Given the description of an element on the screen output the (x, y) to click on. 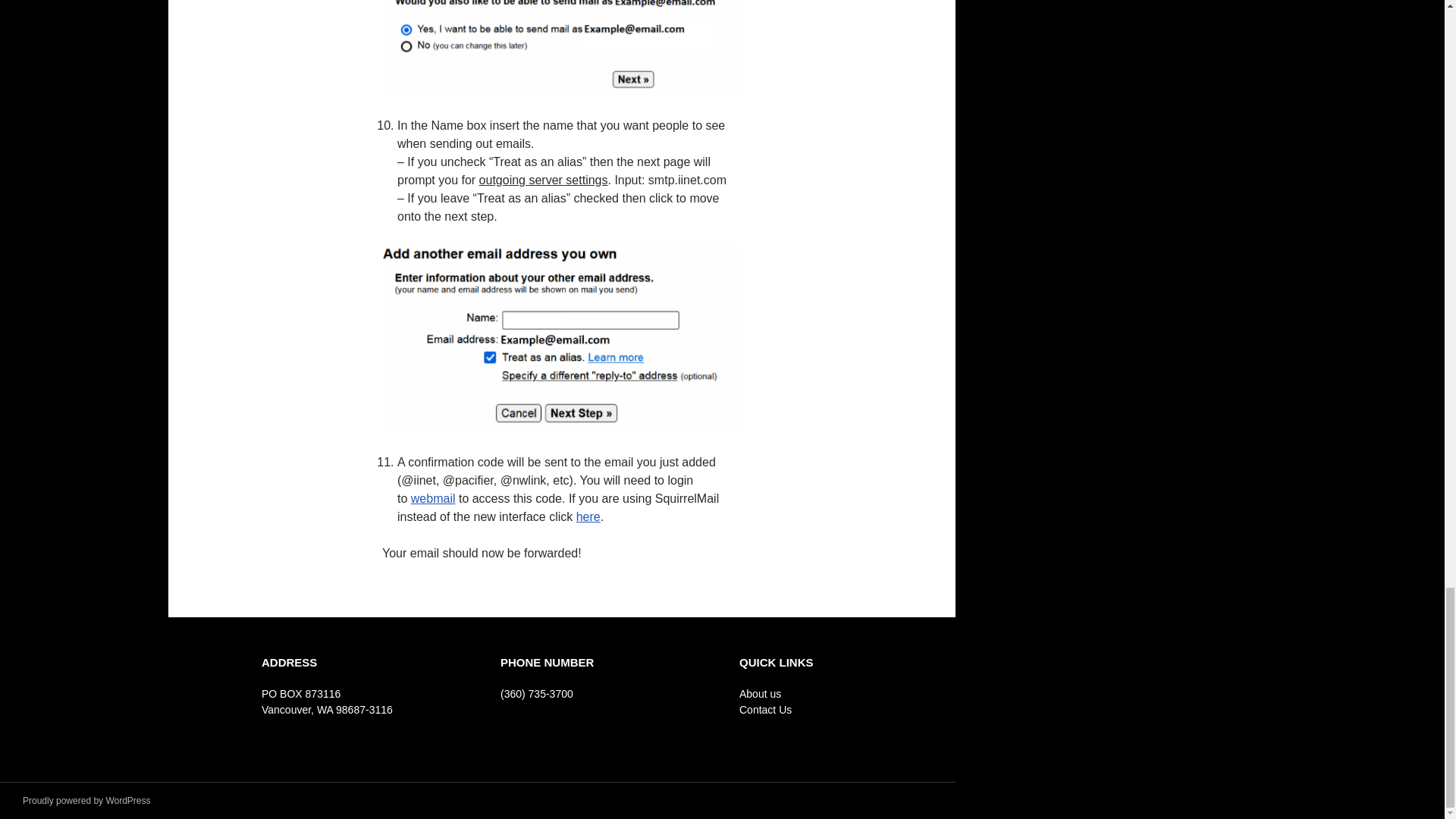
here (587, 516)
webmail (432, 498)
